Given the description of an element on the screen output the (x, y) to click on. 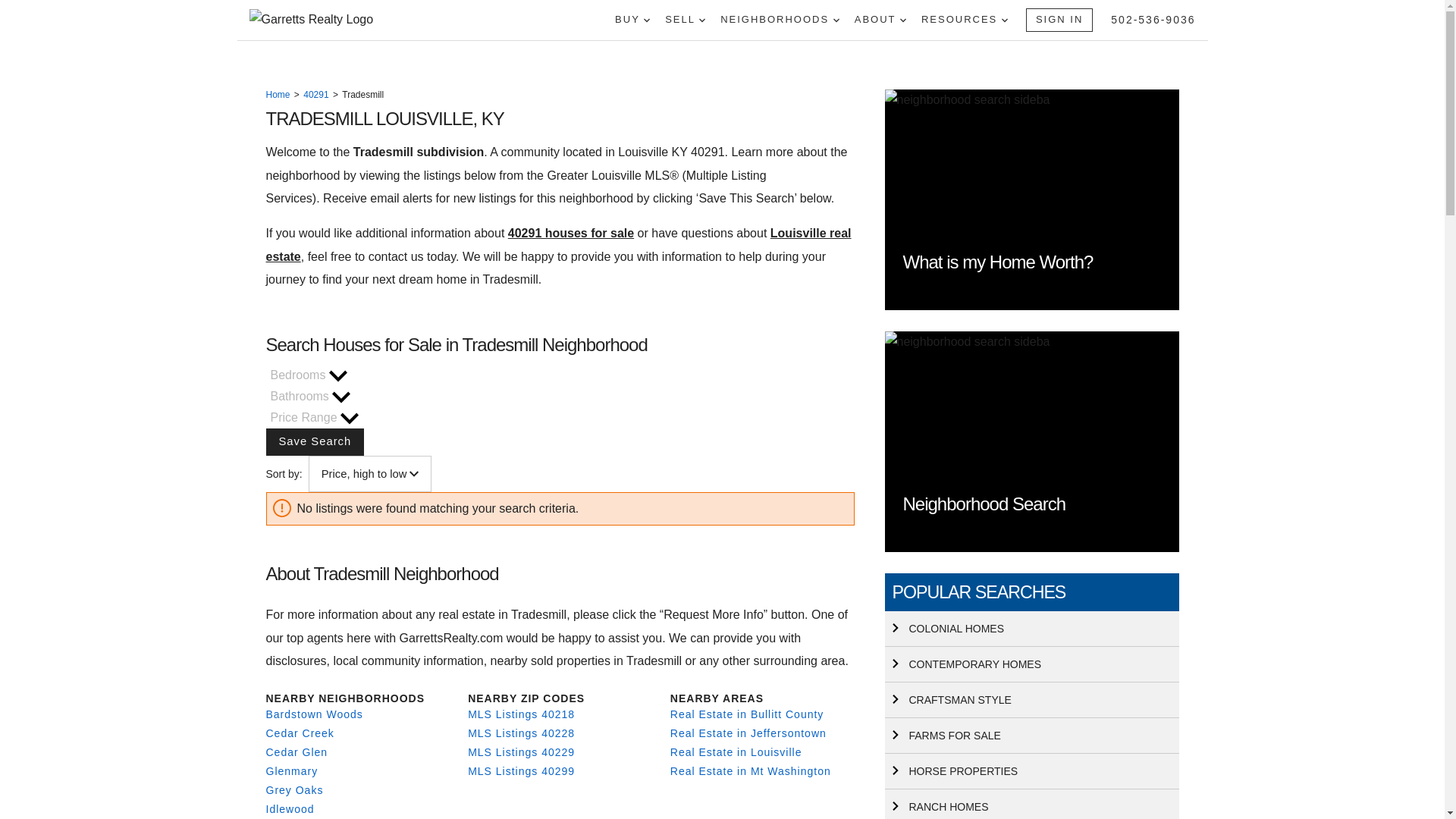
DROPDOWN ARROW (701, 20)
NEIGHBORHOODS DROPDOWN ARROW (780, 19)
DROPDOWN ARROW (1004, 20)
BUY DROPDOWN ARROW (631, 19)
DROPDOWN ARROW (836, 20)
SELL DROPDOWN ARROW (684, 19)
DROPDOWN ARROW (902, 20)
DROPDOWN ARROW (646, 20)
ABOUT DROPDOWN ARROW (879, 19)
